Given the description of an element on the screen output the (x, y) to click on. 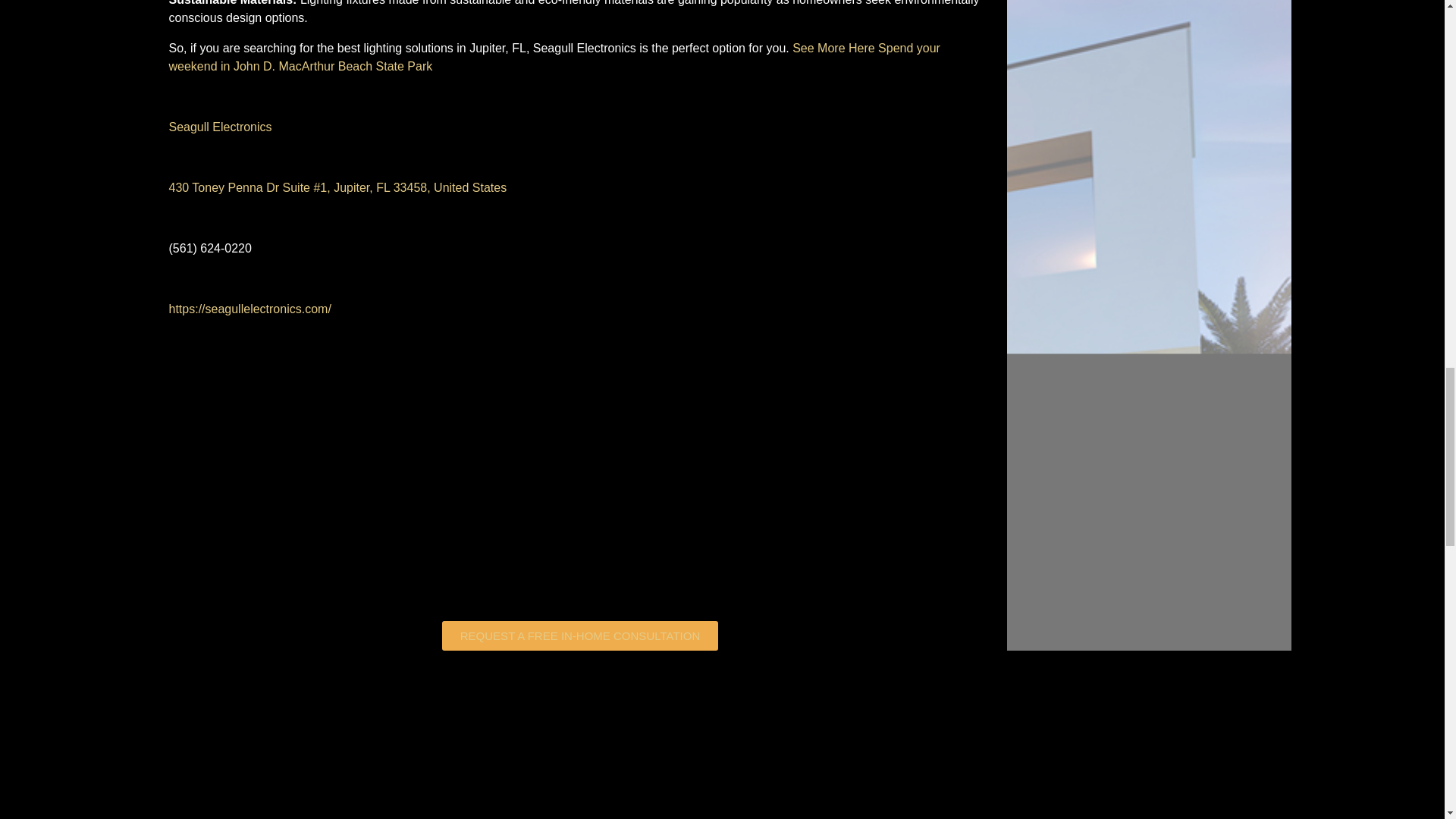
Seagull Electronics (219, 126)
REQUEST A FREE IN-HOME CONSULTATION (579, 635)
